Given the description of an element on the screen output the (x, y) to click on. 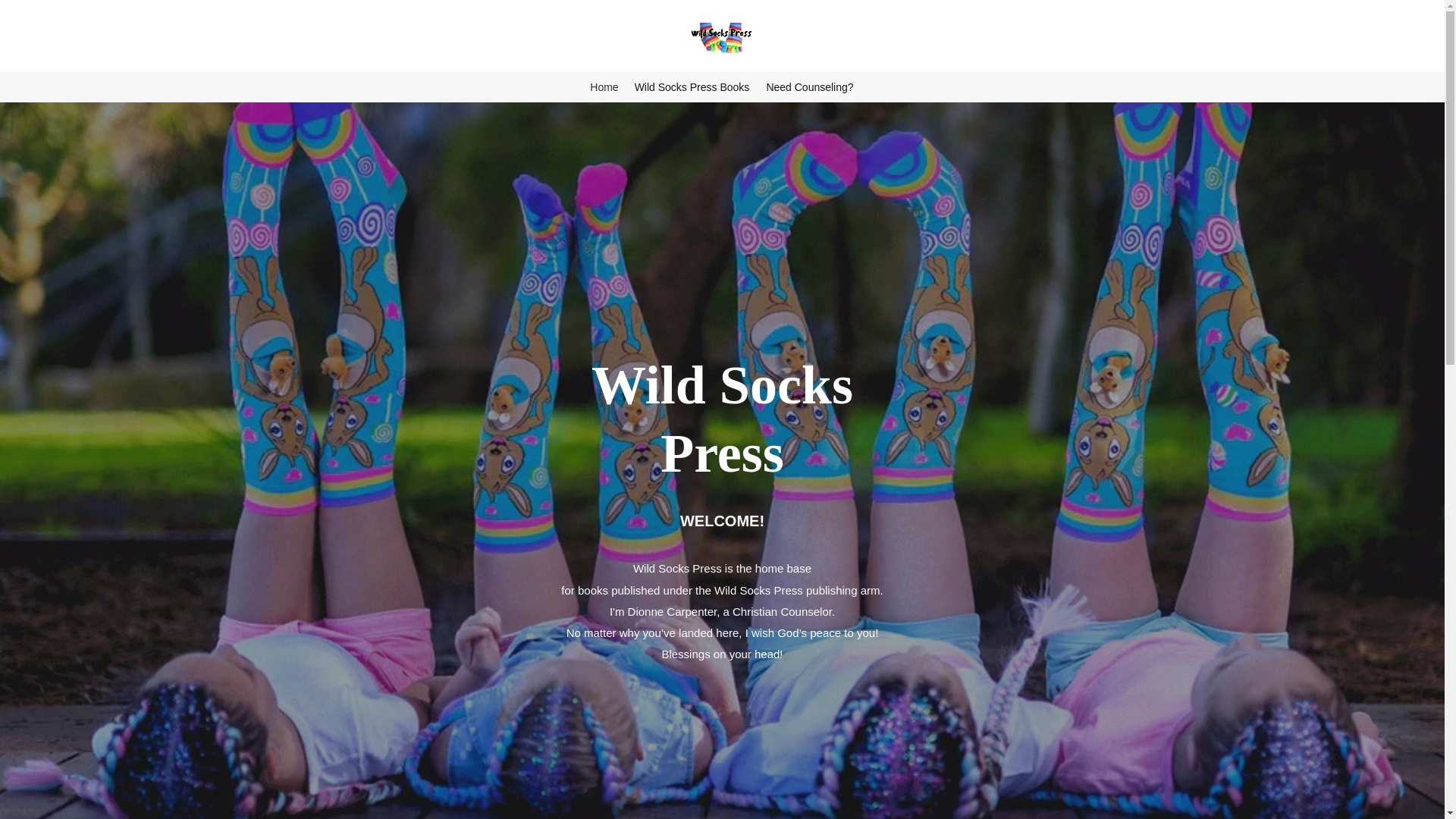
Wild Socks Press Books (691, 87)
Home (604, 87)
Need Counseling? (809, 87)
